Given the description of an element on the screen output the (x, y) to click on. 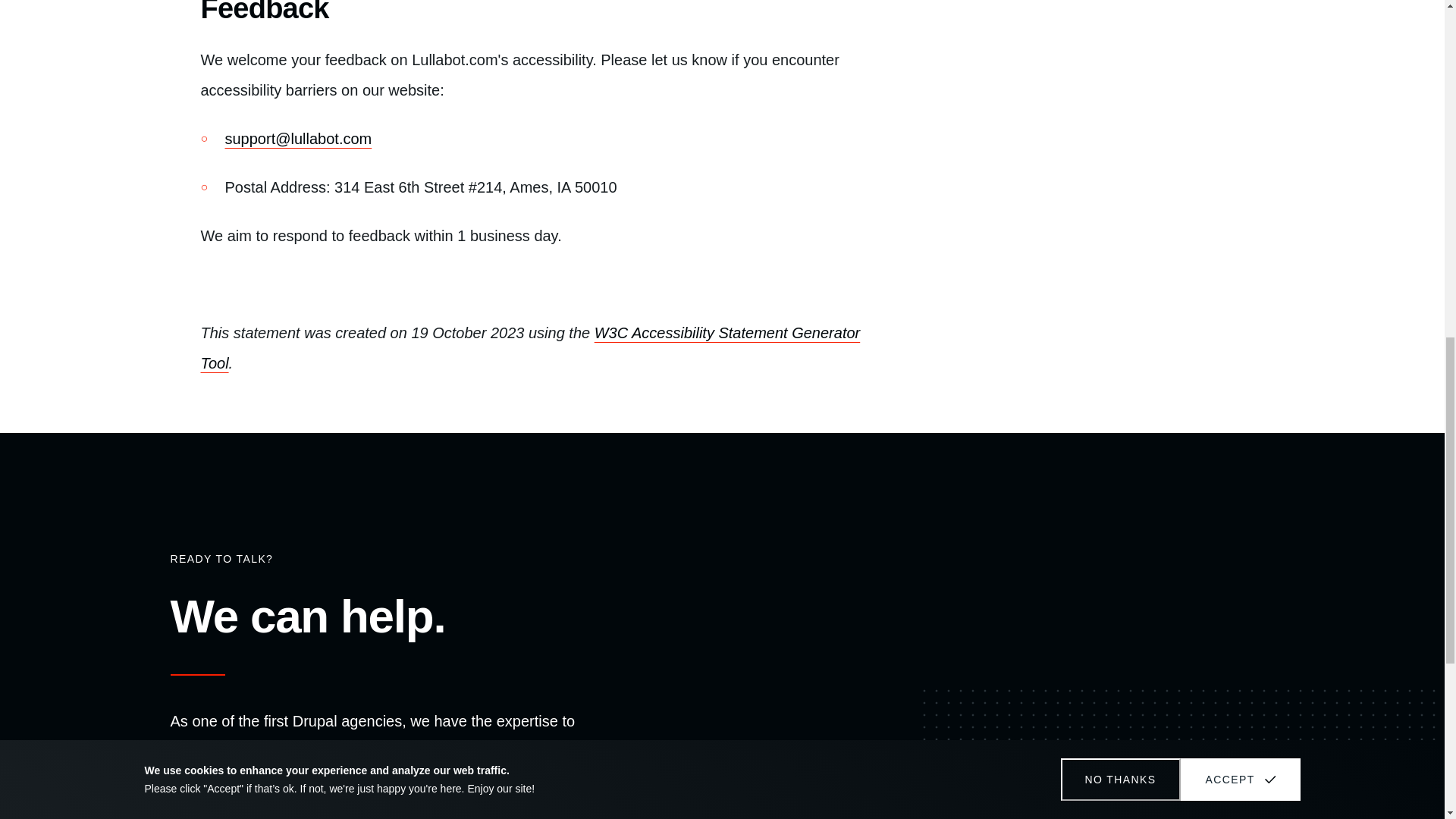
LET'S CONNECT (260, 807)
W3C Accessibility Statement Generator Tool (530, 347)
